Given the description of an element on the screen output the (x, y) to click on. 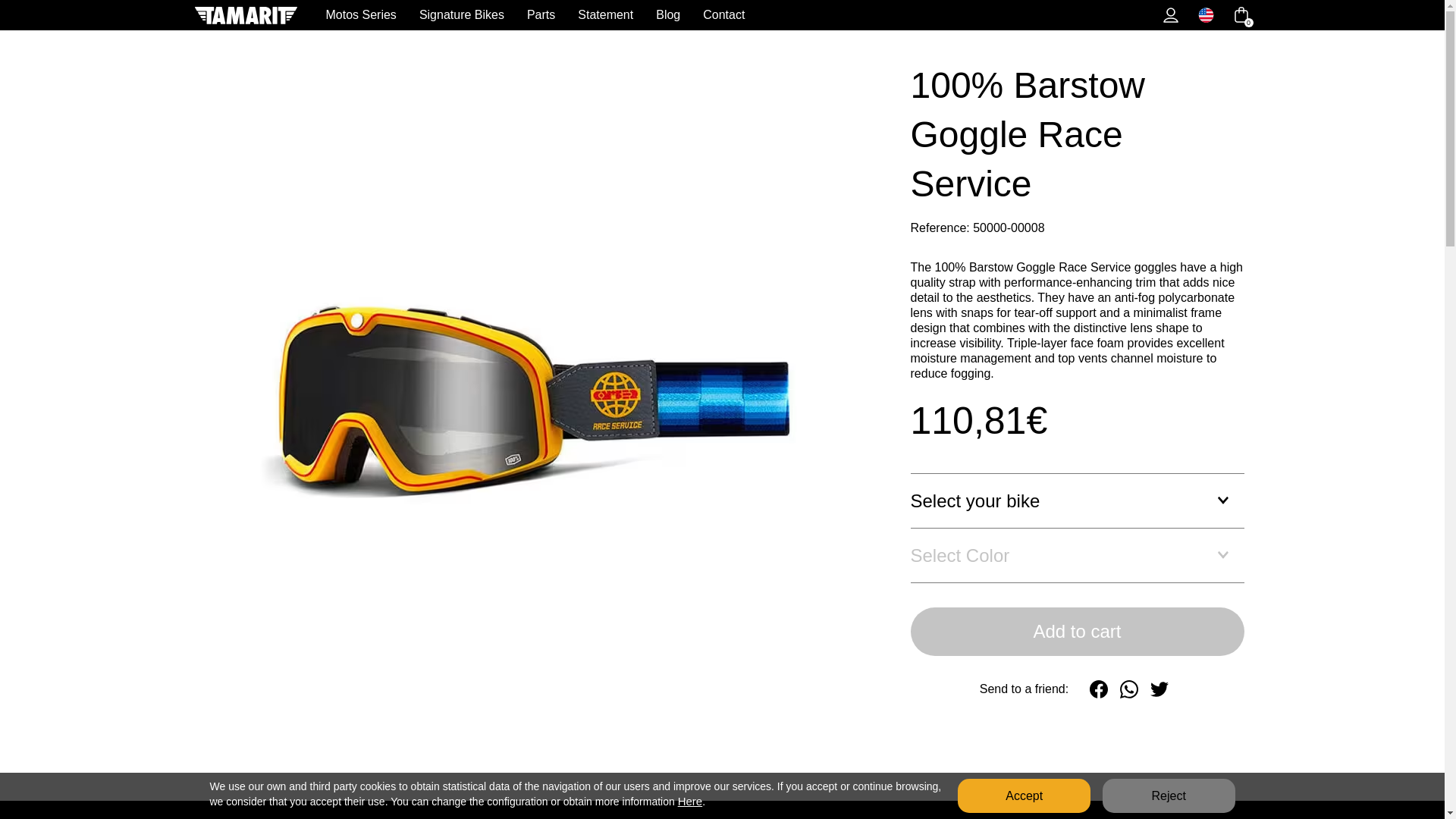
Instagram parts (670, 36)
Statement (605, 14)
Contact (723, 14)
Accesorios  Triumph Thruxton (264, 36)
Stories (1070, 36)
Belly pans and Sump guards (491, 36)
Asientos (433, 36)
Street Scrambler parts (263, 36)
Guardabarros (440, 36)
Triumph Speed Twin parts (271, 36)
Accesorios  Triumph Bonneville (268, 36)
Tubos de Escapes (442, 36)
Bobber Motorcycles (859, 36)
Bobber (859, 36)
Switch market (1206, 14)
